Given the description of an element on the screen output the (x, y) to click on. 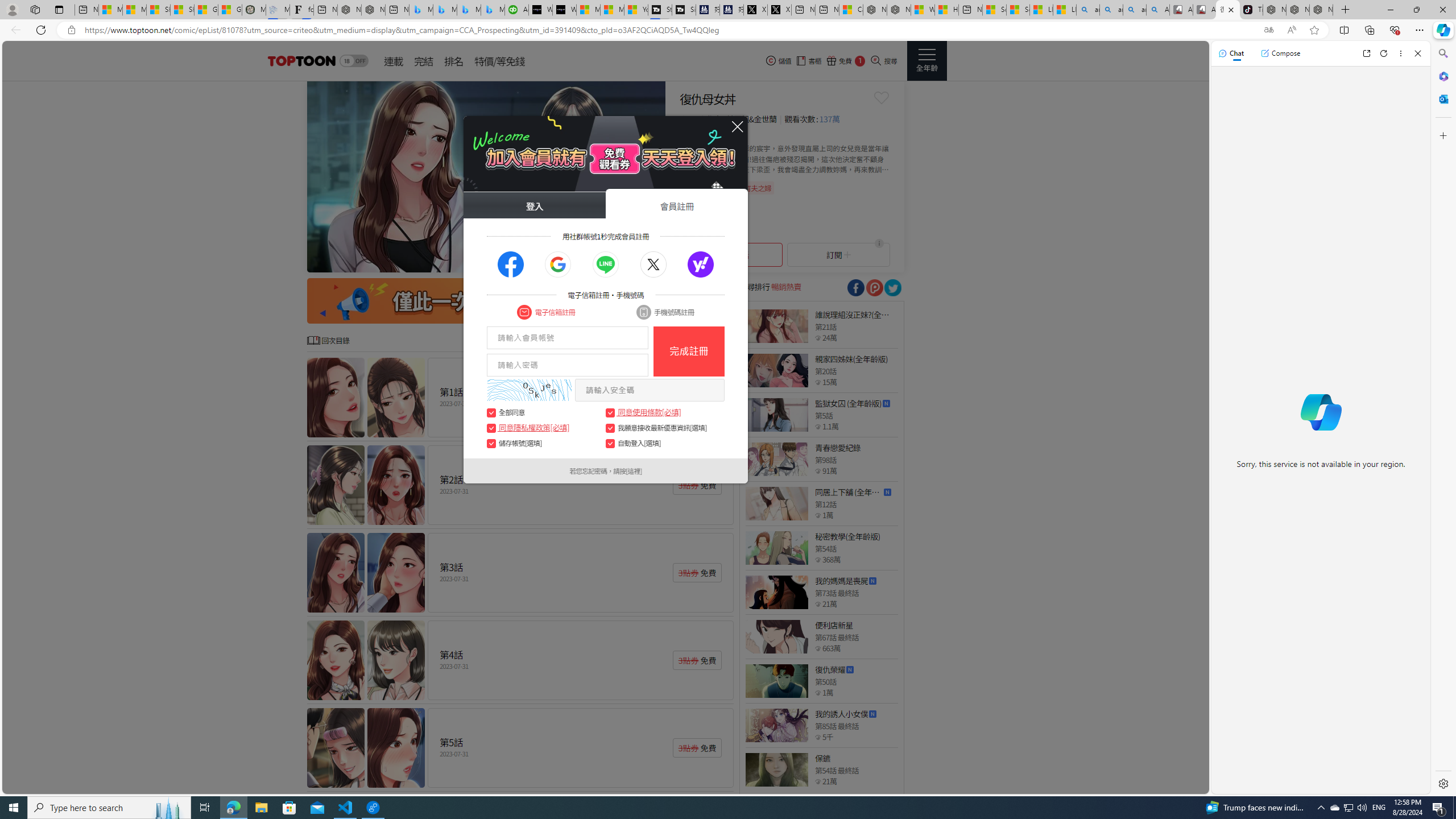
Compose (1280, 52)
Microsoft Bing Travel - Shangri-La Hotel Bangkok (492, 9)
Chat (1231, 52)
All Cubot phones (1204, 9)
Amazon Echo Robot - Search Images (1157, 9)
Show translate options (1268, 29)
